Given the description of an element on the screen output the (x, y) to click on. 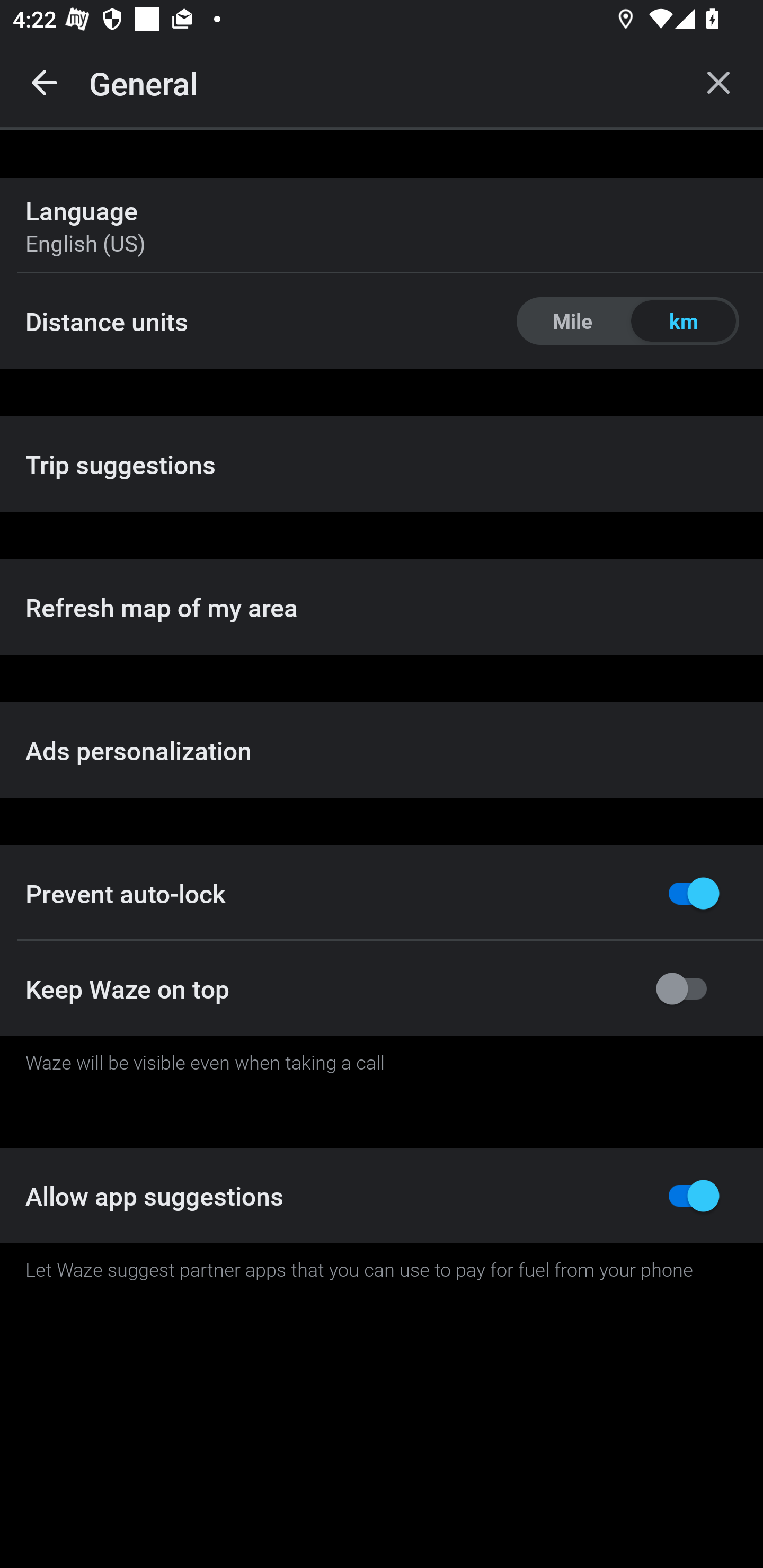
Trip suggestions generalSettingsTripForecastsLabel (381, 464)
Ads personalization generalSettingsAdSettingsLabel (381, 750)
ACTION_CELL_ICON Shut off ACTION_CELL_TEXT (381, 891)
Keep Waze on top generalSettingsKeepWazeOnTopLabel (381, 988)
